Given the description of an element on the screen output the (x, y) to click on. 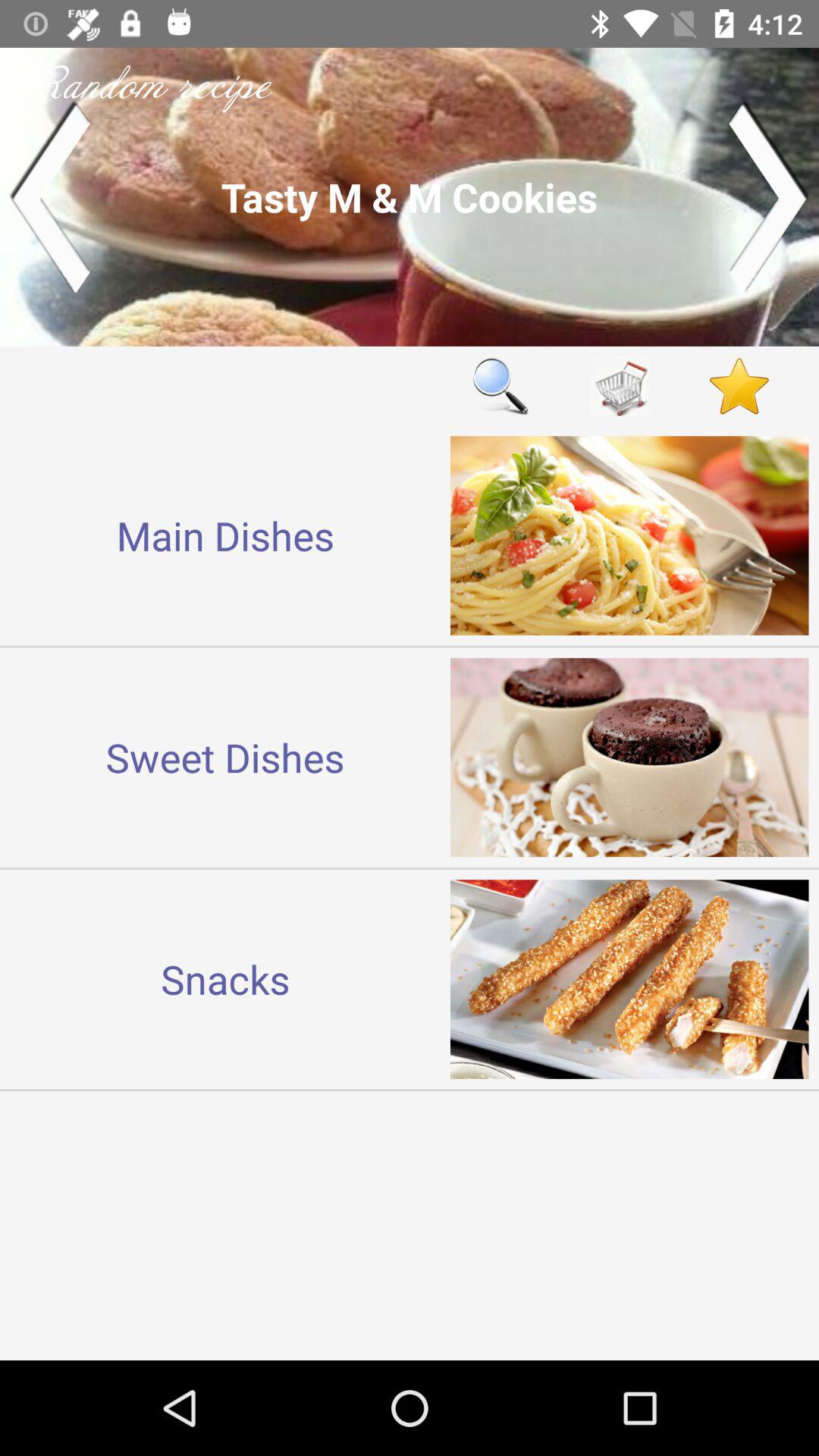
turn on snacks at the bottom left corner (225, 978)
